Given the description of an element on the screen output the (x, y) to click on. 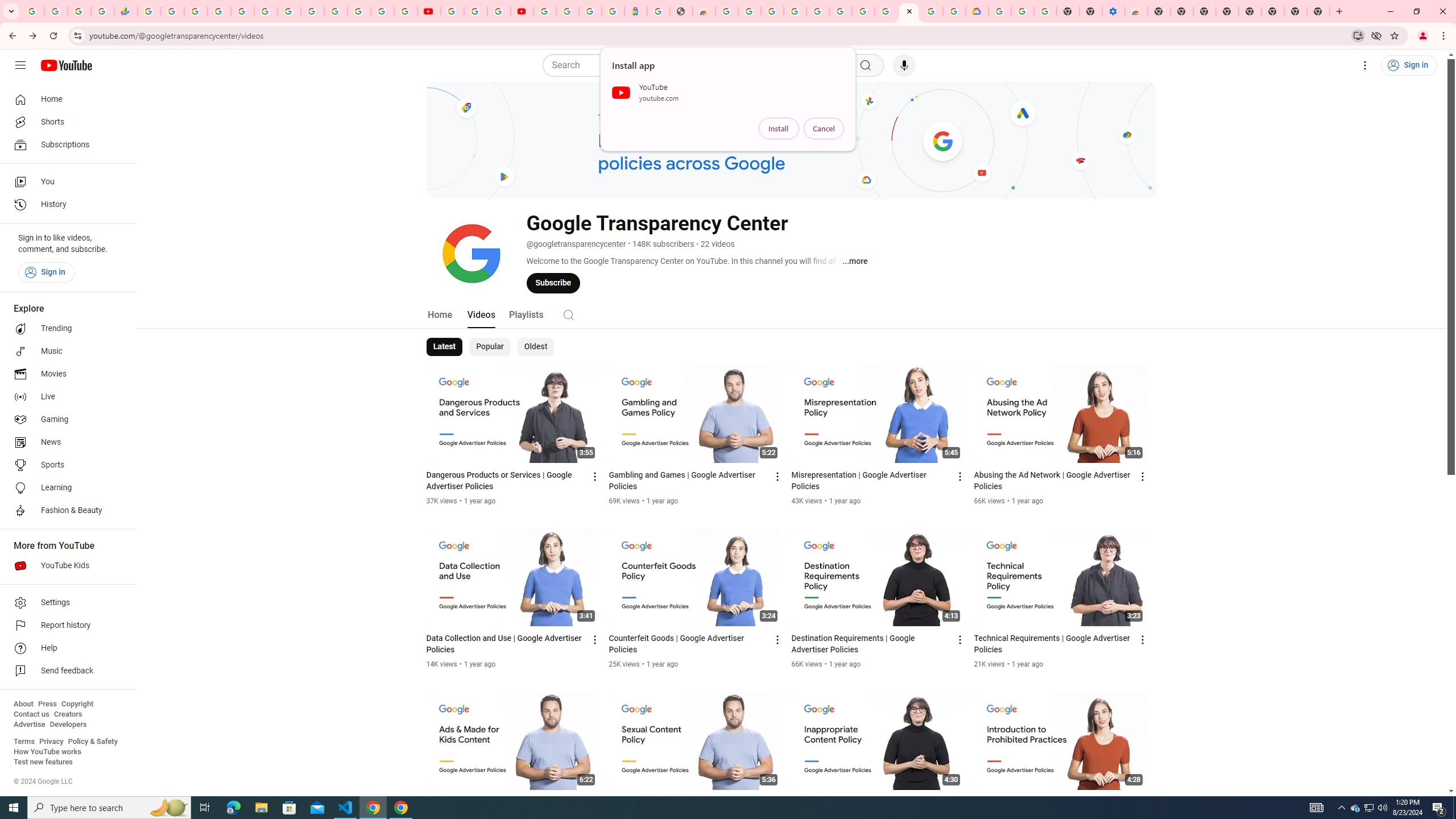
New Tab (1158, 11)
News (64, 441)
Google Transparency Center - YouTube (909, 11)
